Given the description of an element on the screen output the (x, y) to click on. 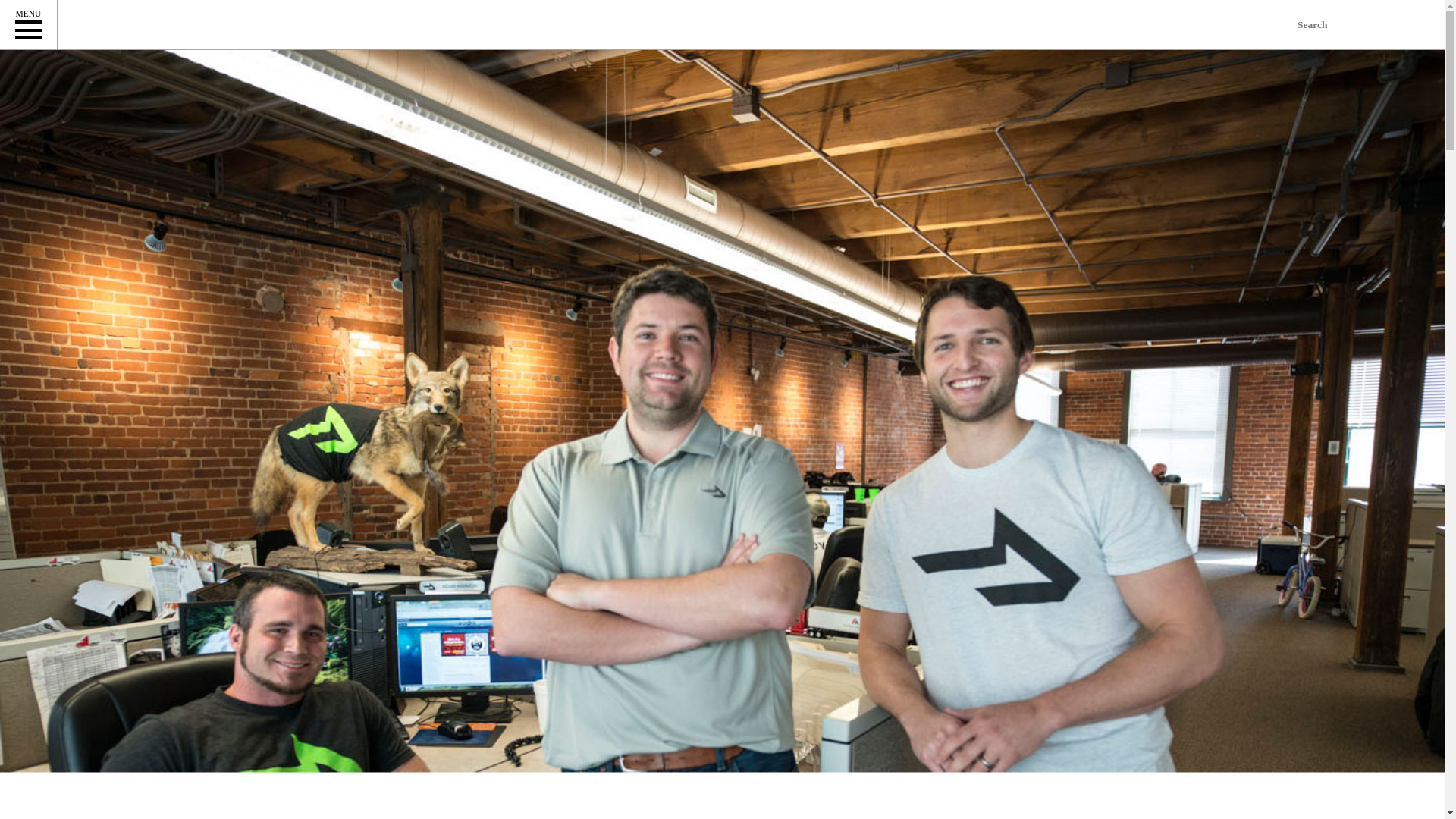
Search for: (1361, 24)
site logo (188, 23)
Search (18, 7)
